Given the description of an element on the screen output the (x, y) to click on. 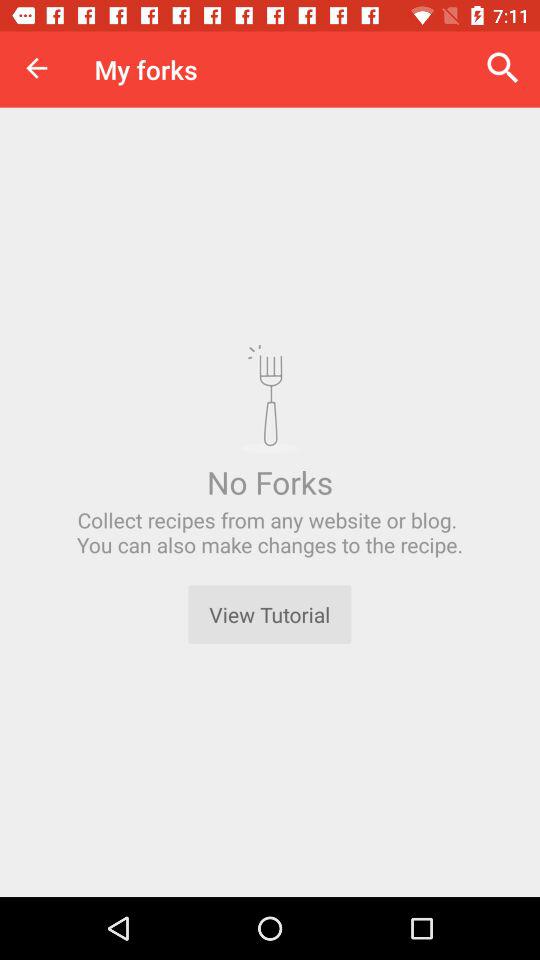
tap item next to my forks (36, 68)
